Given the description of an element on the screen output the (x, y) to click on. 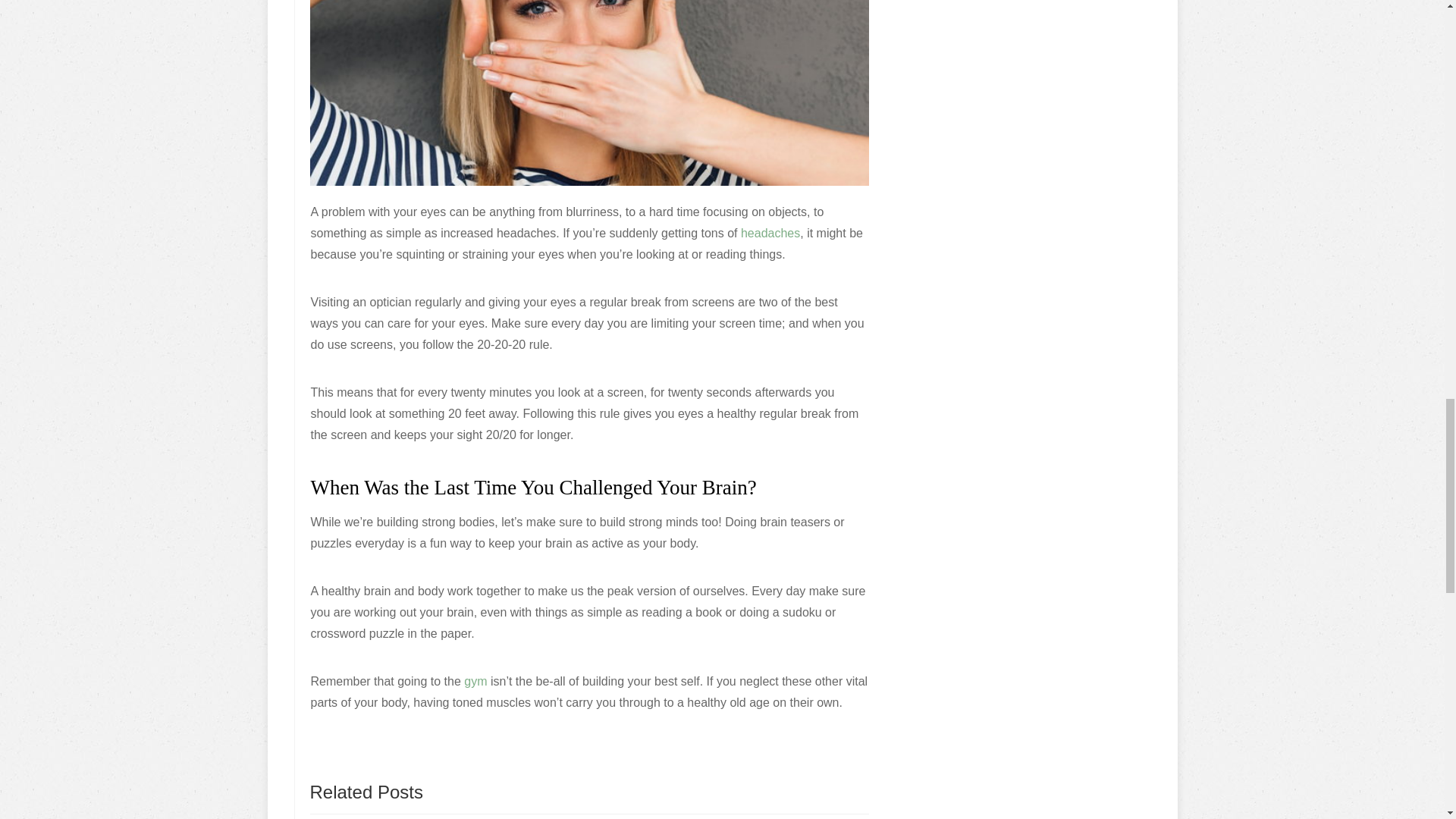
eye-check- (587, 92)
gym (477, 680)
headaches (770, 232)
